Given the description of an element on the screen output the (x, y) to click on. 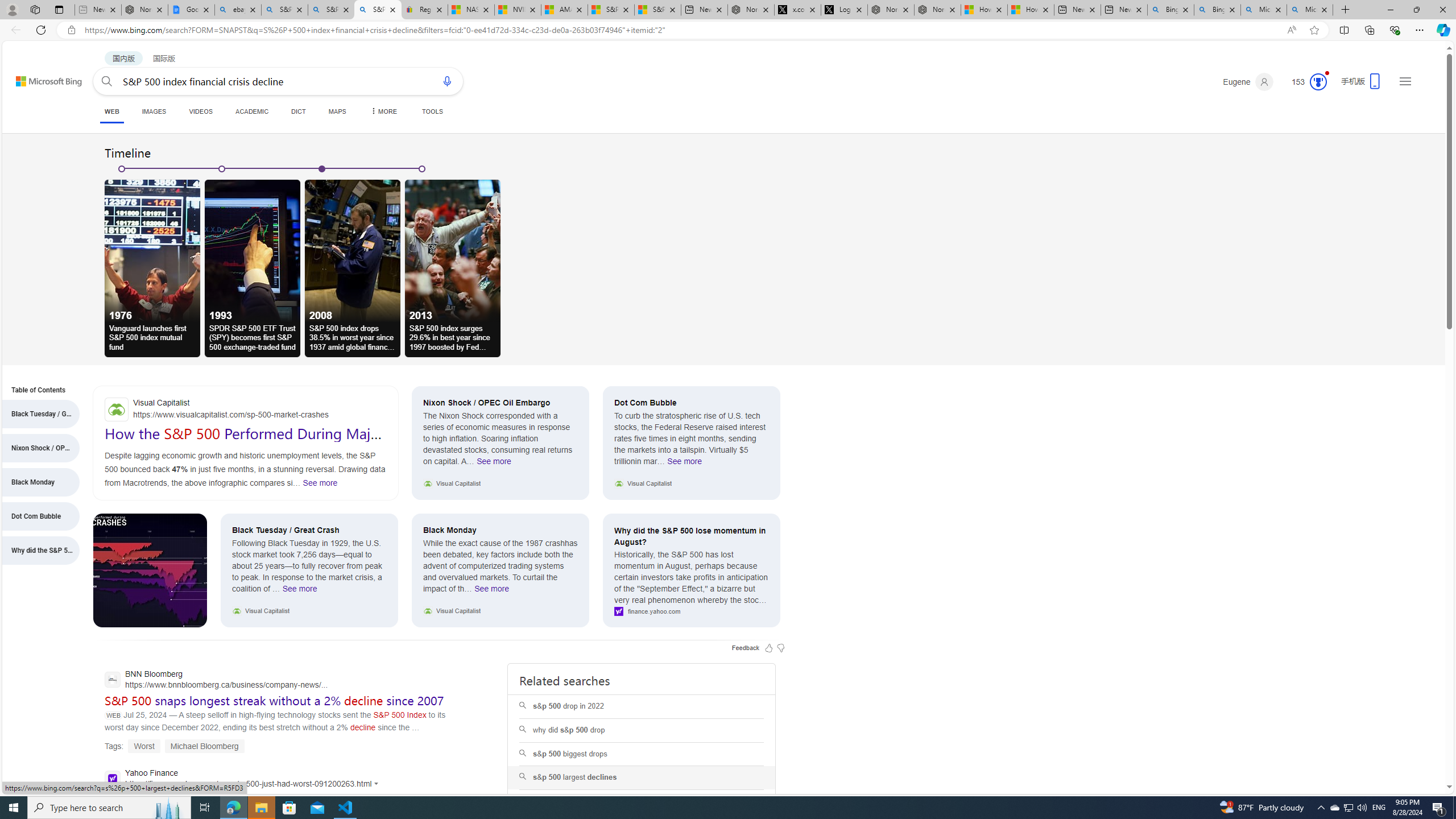
Global web icon (111, 777)
ACADEMIC (252, 111)
s&p 500 biggest drops (641, 754)
Google Docs: Online Document Editor | Google Workspace (191, 9)
1976 (152, 250)
1976Vanguard launches first S&P 500 index mutual fund (152, 262)
How the S&P 500 Performed During Major Market Crashes (244, 441)
2008 (352, 250)
